Given the description of an element on the screen output the (x, y) to click on. 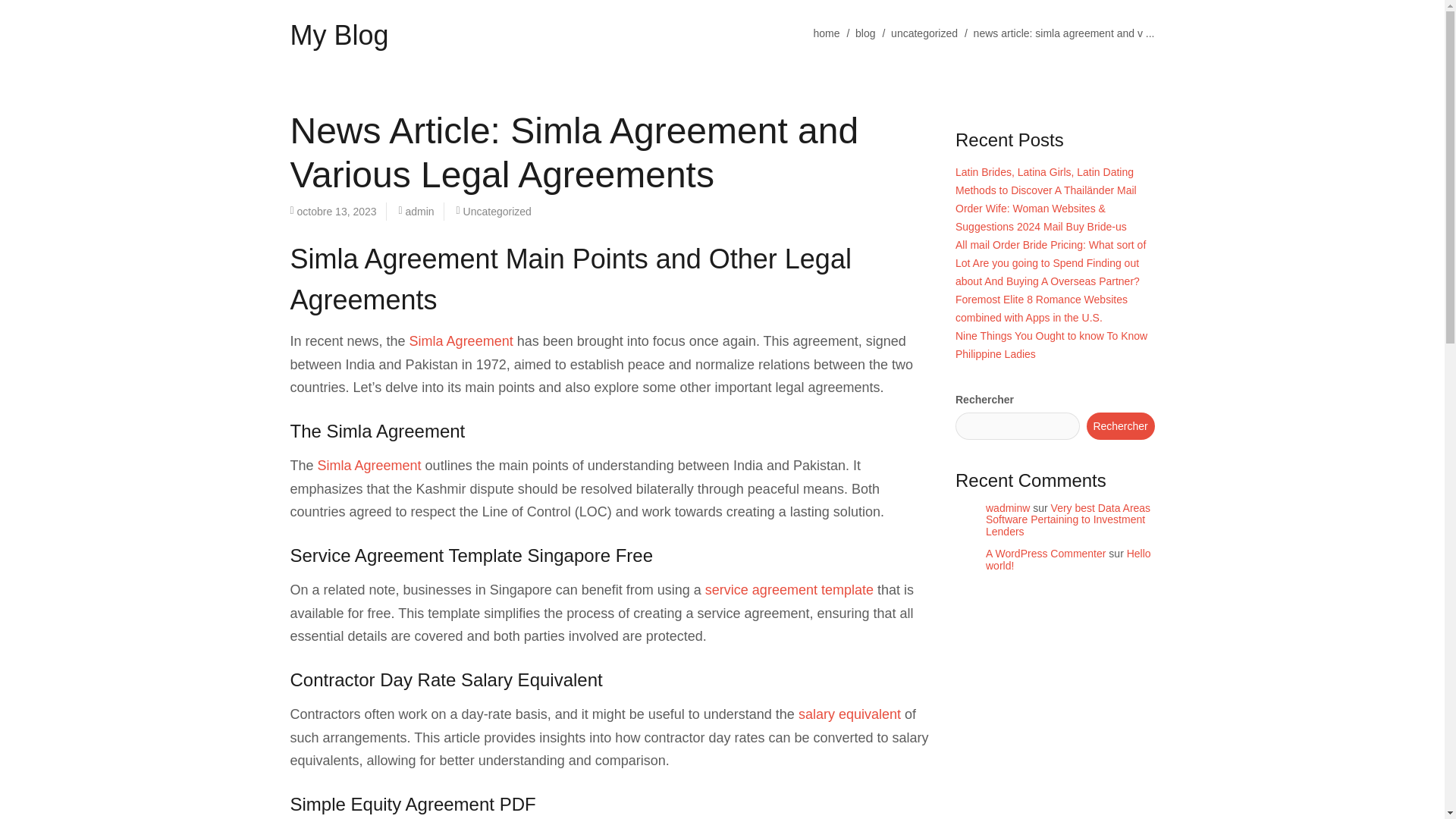
Nine Things You Ought to know To Know Philippine Ladies (1051, 344)
Simla Agreement (369, 465)
Hello world! (1068, 558)
Simla Agreement (461, 340)
wadminw (1007, 508)
home (826, 33)
Uncategorized (497, 211)
Rechercher (1120, 425)
Latin Brides, Latina Girls, Latin Dating (1044, 171)
service agreement template (788, 589)
admin (419, 211)
blog (865, 33)
